Given the description of an element on the screen output the (x, y) to click on. 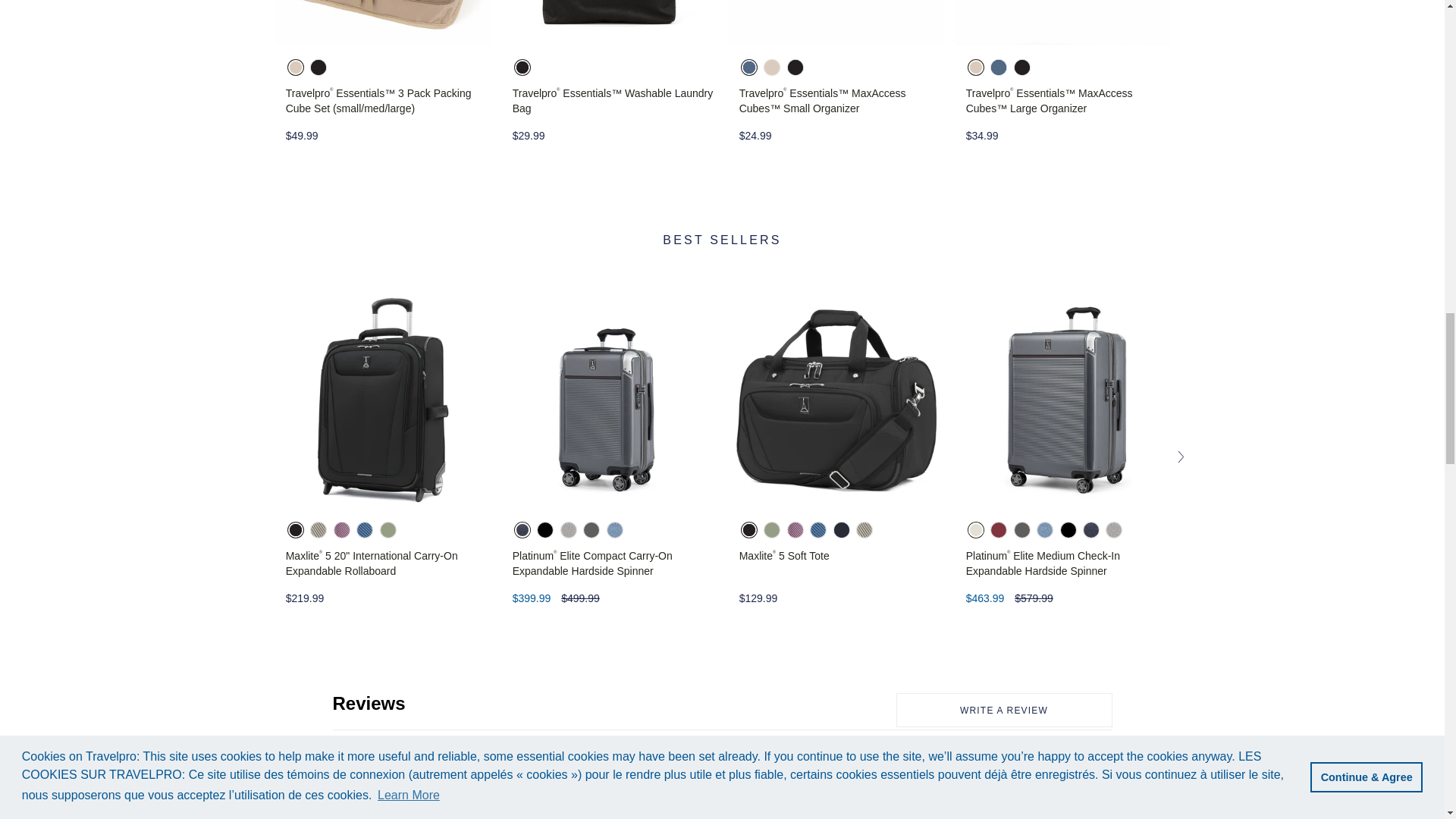
BLACK (1021, 67)
BLACK (522, 68)
NAVY (998, 67)
BLACK (795, 68)
NAVY (748, 68)
KHAKI (295, 67)
KHAKI (295, 68)
BLACK (1021, 68)
NAVY (749, 67)
KHAKI (976, 67)
BLACK (318, 67)
BLACK (318, 68)
NAVY (998, 68)
KHAKI (975, 68)
KHAKI (771, 67)
